Given the description of an element on the screen output the (x, y) to click on. 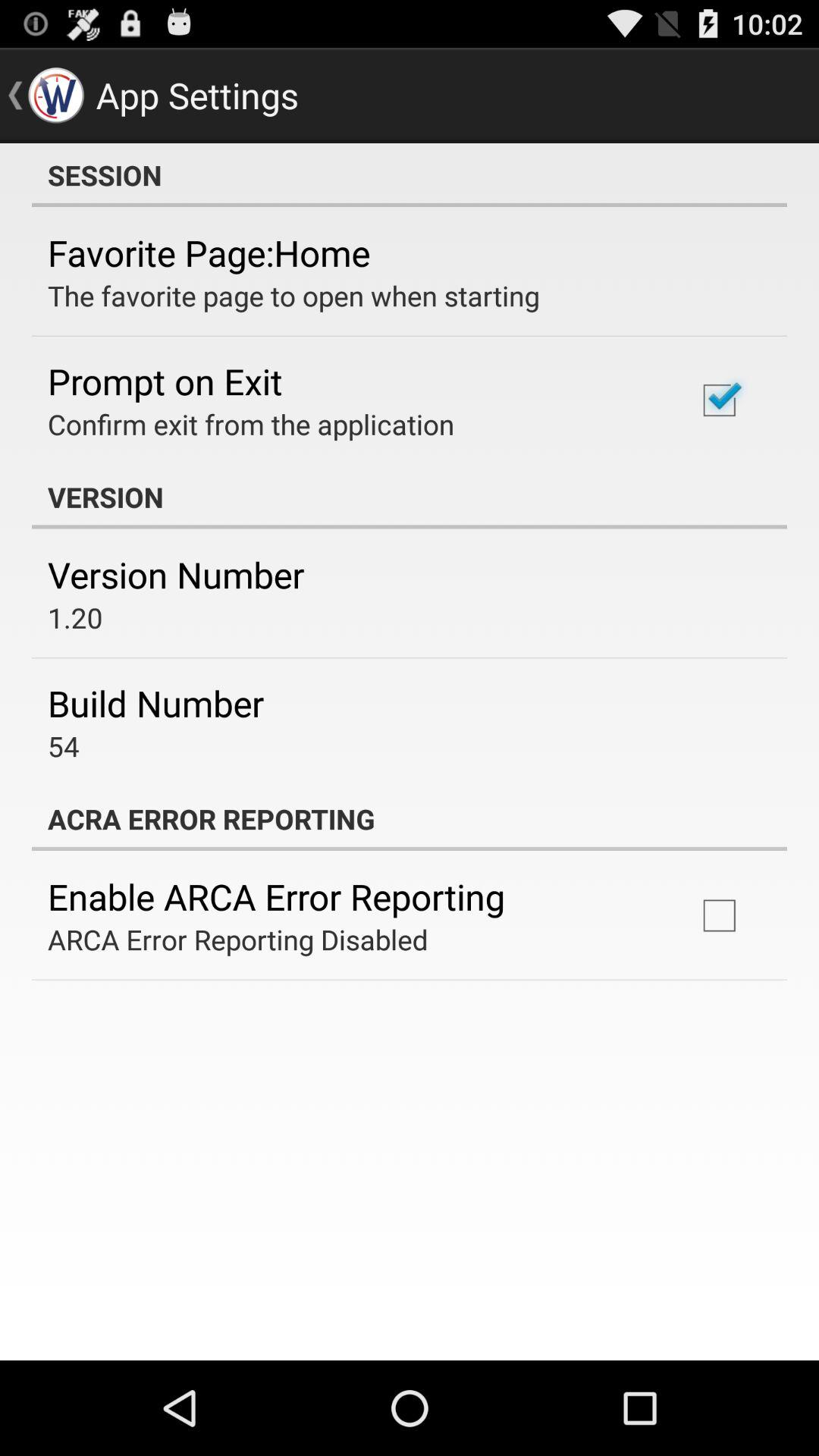
swipe to the build number (155, 703)
